Given the description of an element on the screen output the (x, y) to click on. 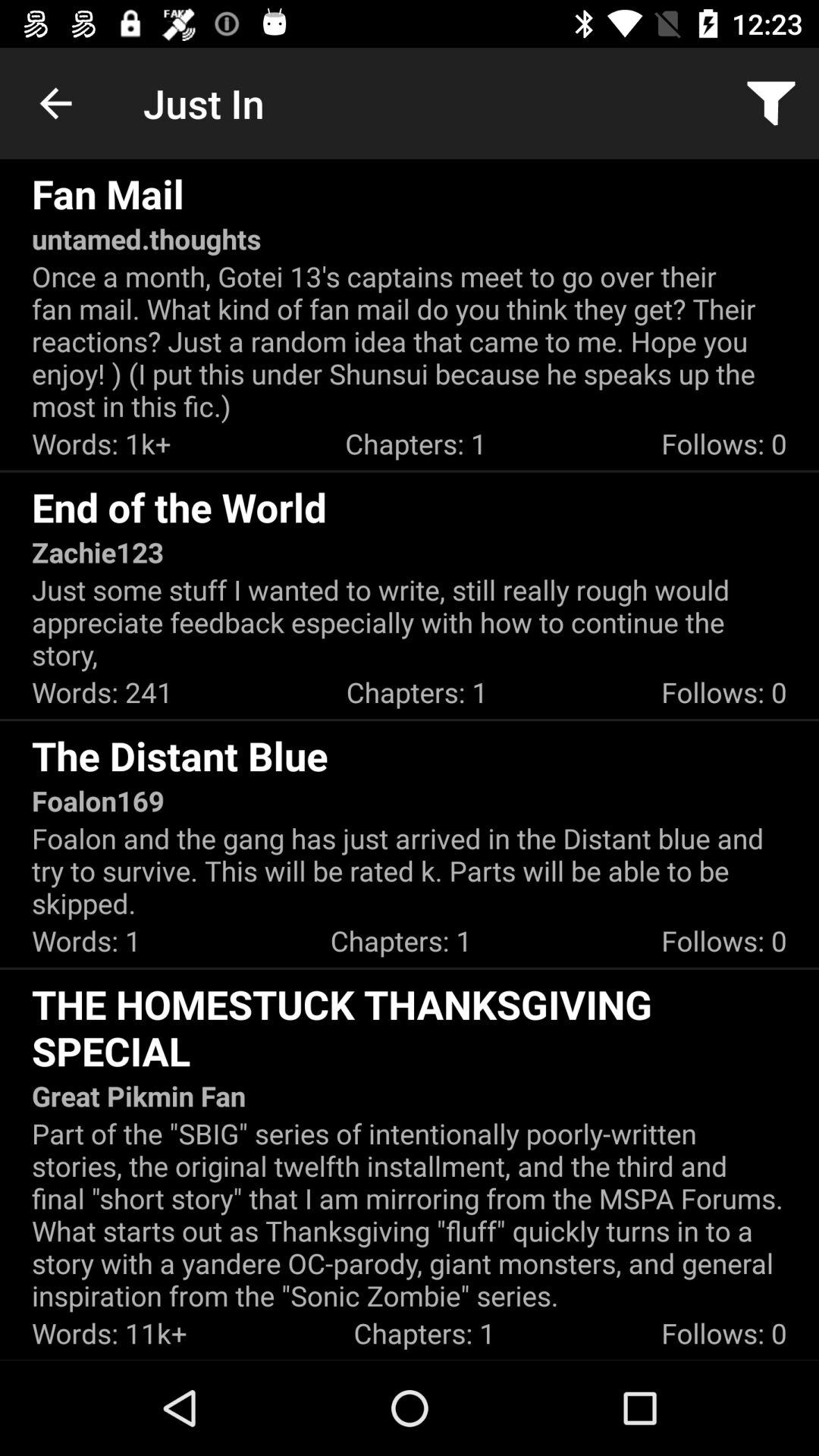
launch once a month item (409, 340)
